Given the description of an element on the screen output the (x, y) to click on. 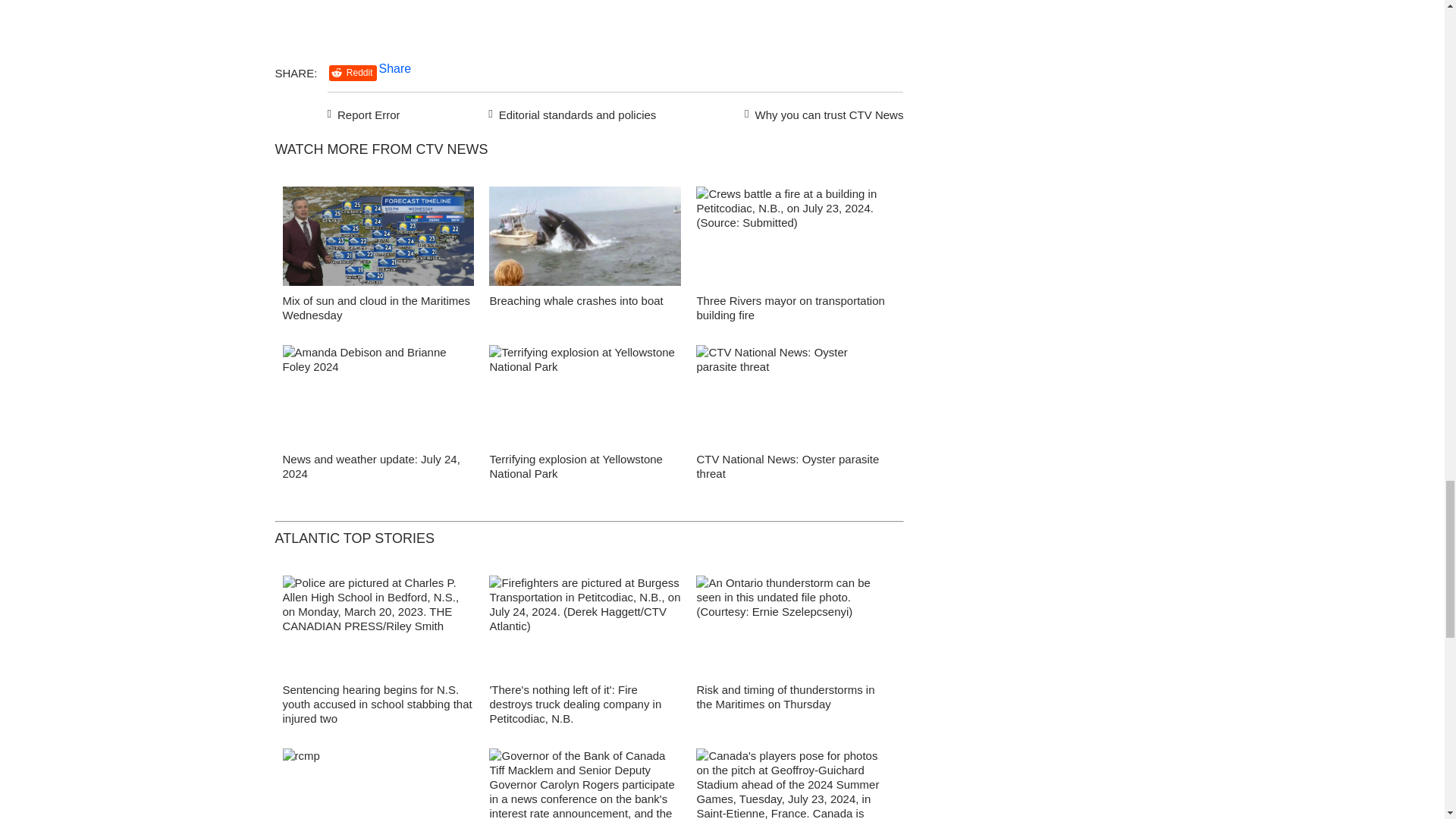
News and weather update: July 24, 2024 (371, 465)
false (791, 235)
Fire in Petitcodiac (791, 240)
Petitcodiac firefighters (585, 629)
Charles P. Allen High School (378, 629)
rcmp (378, 783)
CTV National News: Oyster parasite threat (787, 465)
Governor of the Bank of Canada Tiff Macklem speaks (585, 783)
false (791, 394)
Kalin Mitchell (378, 240)
Report Error (363, 112)
Breaching whale crashes into boat (575, 300)
Amanda Debison and Brianne Foley 2024 (378, 398)
Editorial standards and policies (569, 112)
